Given the description of an element on the screen output the (x, y) to click on. 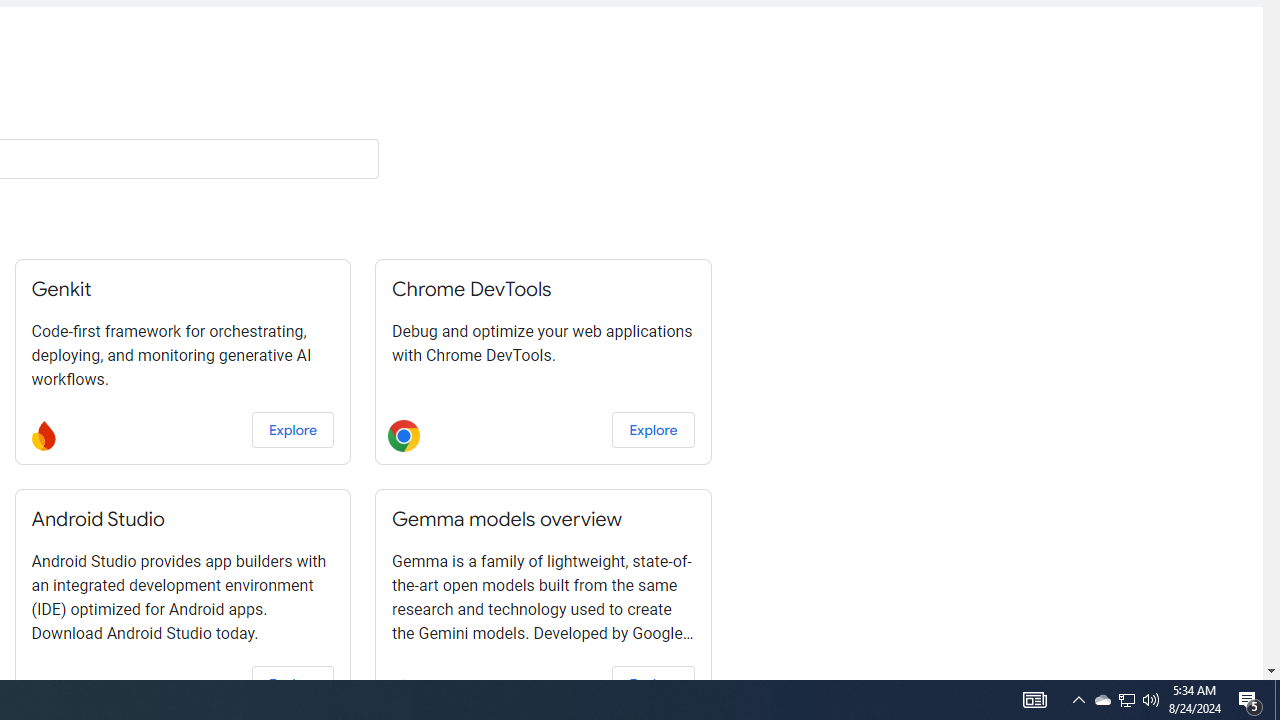
Explore (653, 684)
